Given the description of an element on the screen output the (x, y) to click on. 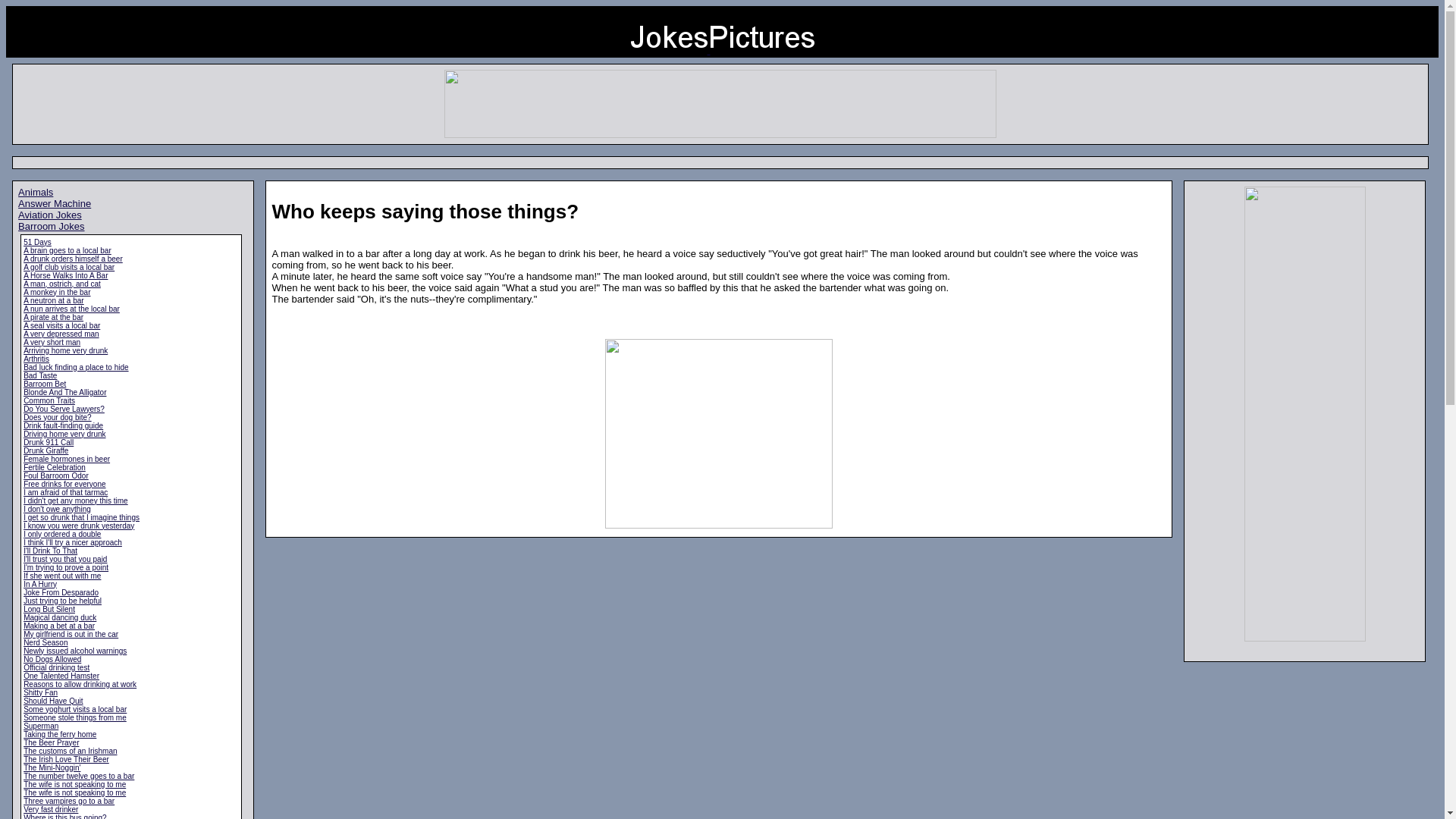
Common Traits (49, 399)
Barroom Jokes (50, 225)
51 Days (36, 242)
A nun arrives at the local bar (71, 308)
Fertile Celebration (54, 466)
Drink fault-finding guide (63, 425)
Barroom Bet (44, 383)
Bad Taste (39, 375)
I am afraid of that tarmac (65, 492)
Aviation Jokes (49, 214)
Answer Machine (53, 203)
Female hormones in beer (66, 459)
A brain goes to a local bar (67, 249)
A monkey in the bar (56, 292)
Free drinks for everyone (63, 483)
